Given the description of an element on the screen output the (x, y) to click on. 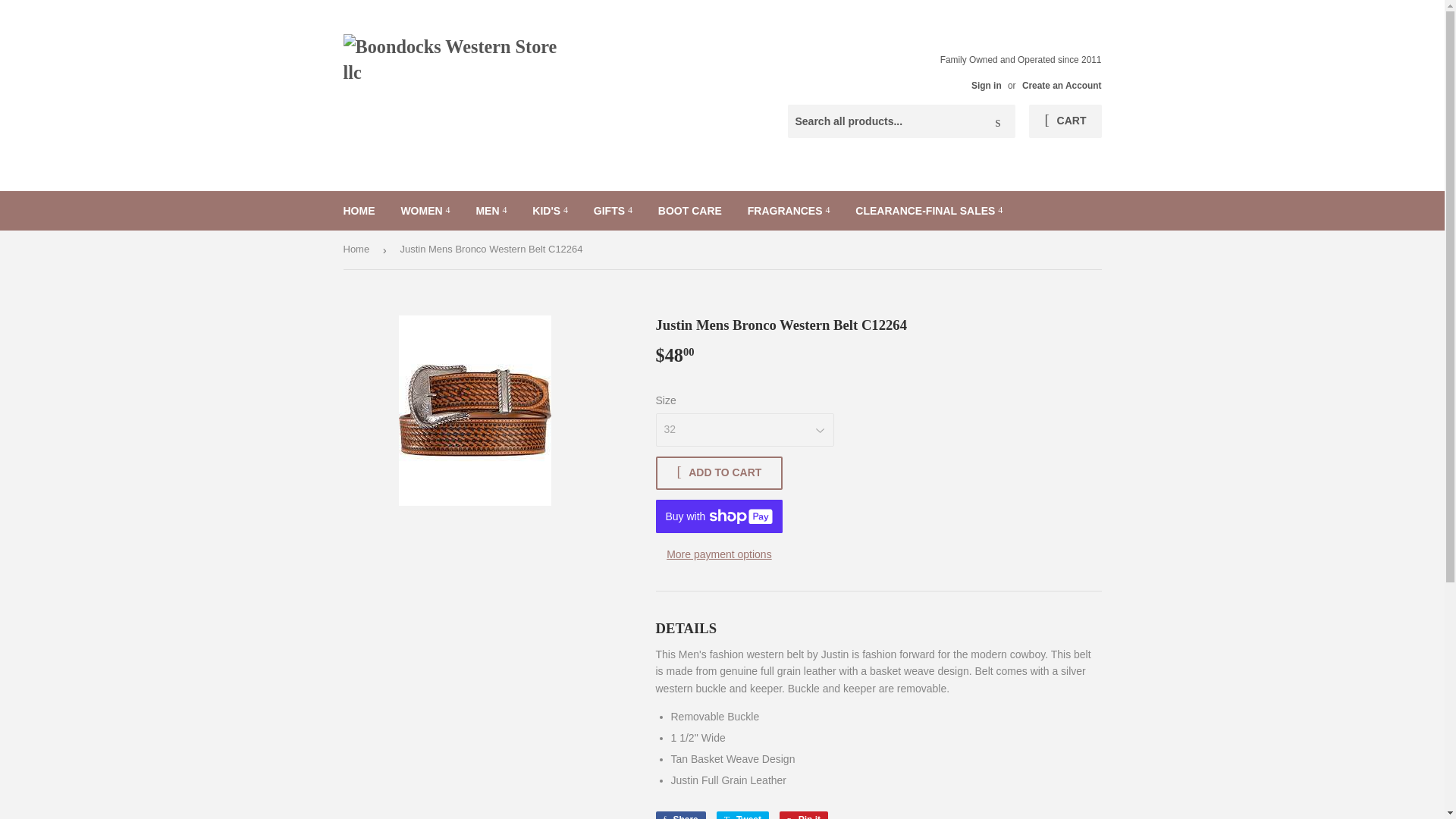
Back to the frontpage (358, 249)
Pin on Pinterest (803, 815)
Sign in (986, 85)
Create an Account (1062, 85)
CART (1064, 121)
Tweet on Twitter (742, 815)
Share on Facebook (679, 815)
Search (997, 122)
